Given the description of an element on the screen output the (x, y) to click on. 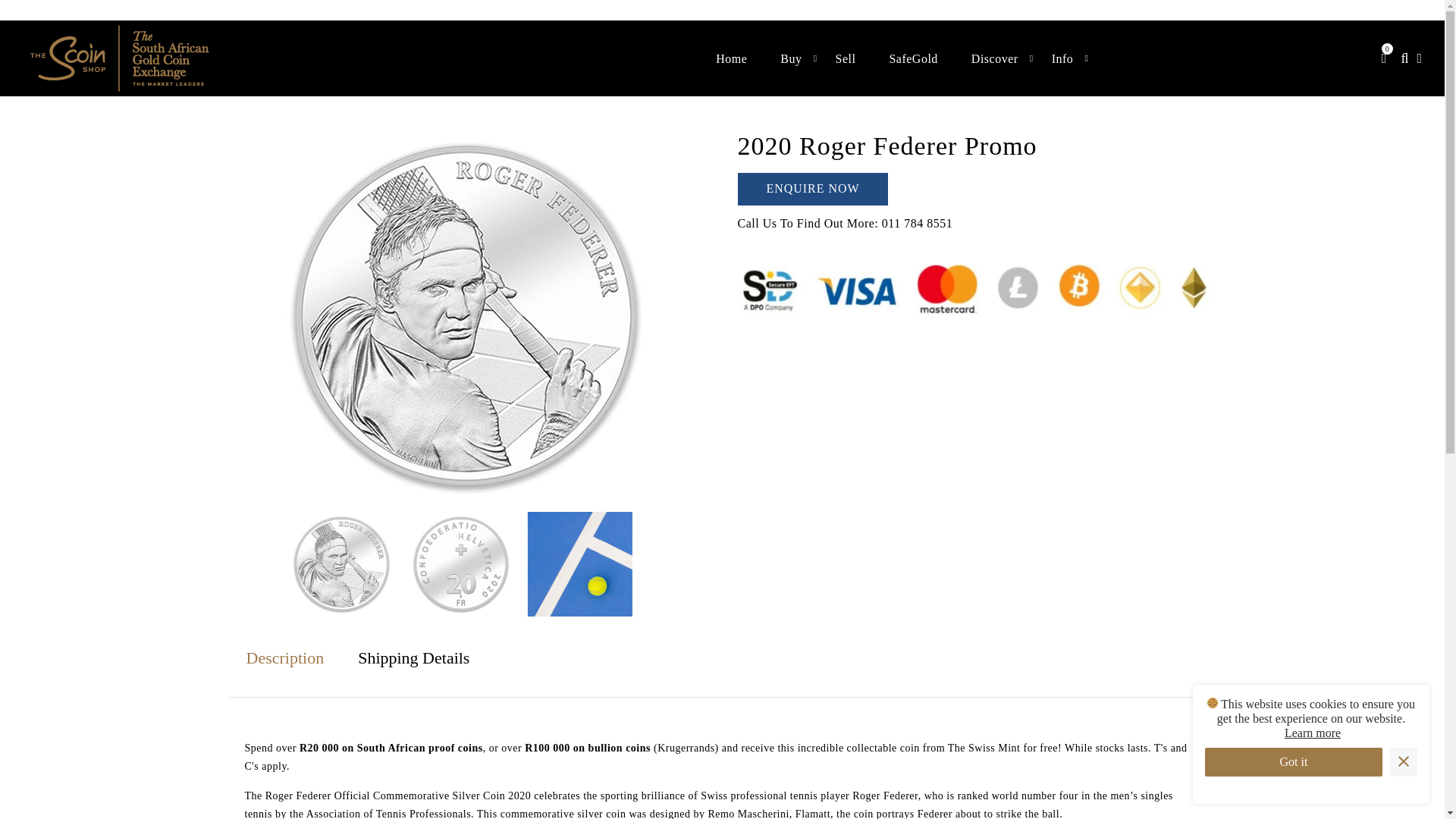
Home (730, 58)
Discover (994, 58)
Info (1062, 58)
Sell (845, 58)
SafeGold (912, 58)
Buy (790, 58)
